Given the description of an element on the screen output the (x, y) to click on. 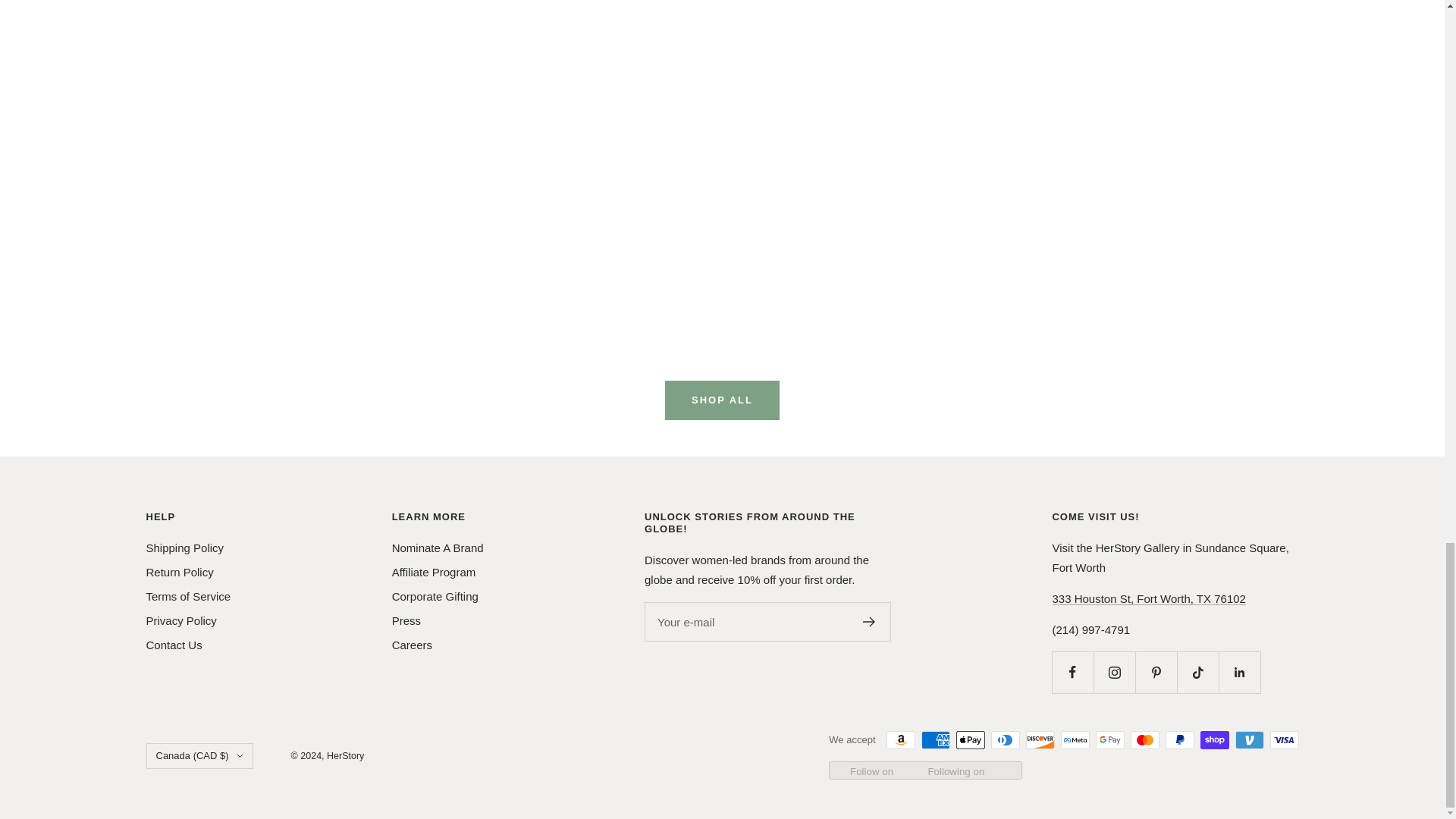
Register (869, 621)
